Given the description of an element on the screen output the (x, y) to click on. 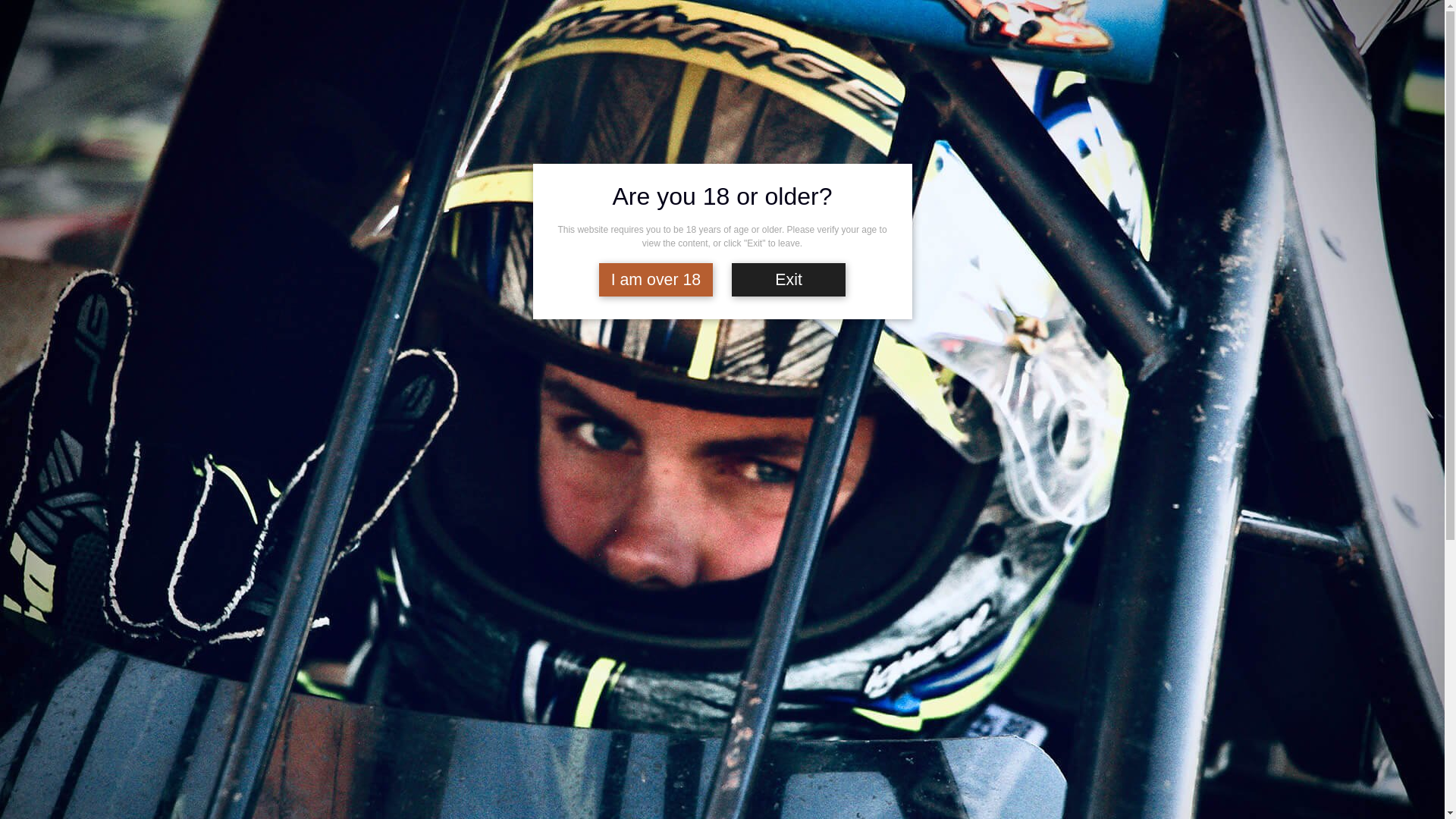
Videos Element type: text (788, 27)
Series Element type: text (415, 92)
Customise Element type: text (505, 92)
Subscribe Here Element type: text (389, 700)
0 Element type: text (1129, 28)
Methanol Moonshine Masters Series Bottle #9 Element type: text (1045, 373)
USA Orders Element type: text (969, 92)
Cocktails Element type: text (684, 27)
Ms Moonshine Element type: text (985, 409)
Methanol Moonshine Masters Series Bottle #10 Element type: text (1045, 213)
Blog Element type: text (645, 27)
Subscribe Element type: text (1074, 92)
Exit Element type: text (788, 280)
Merch Element type: text (875, 92)
Fan Creations Element type: text (738, 27)
I am over 18 Element type: text (655, 280)
